Given the description of an element on the screen output the (x, y) to click on. 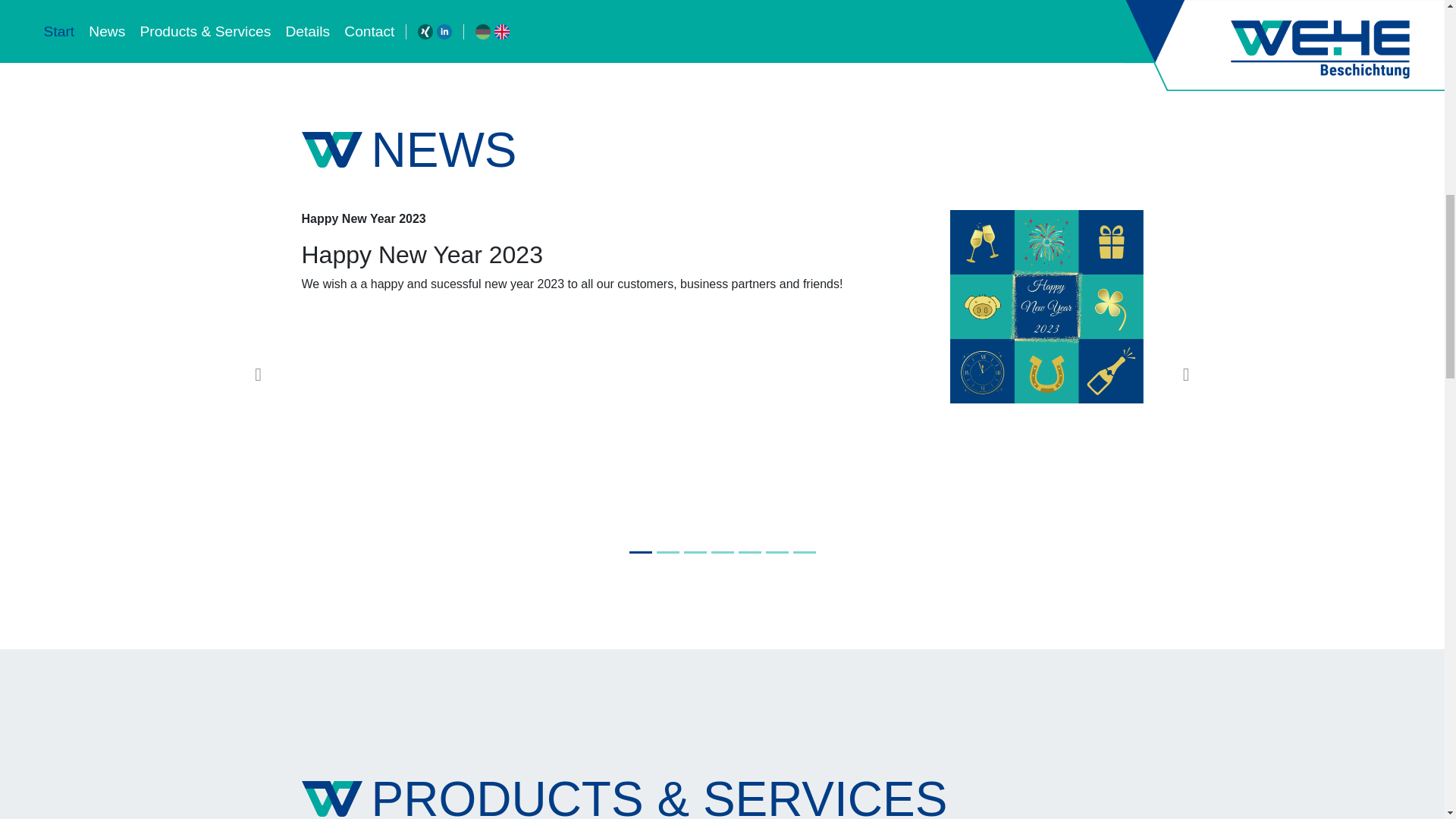
Next news (1185, 368)
To our news (698, 15)
Previous news (258, 368)
